Given the description of an element on the screen output the (x, y) to click on. 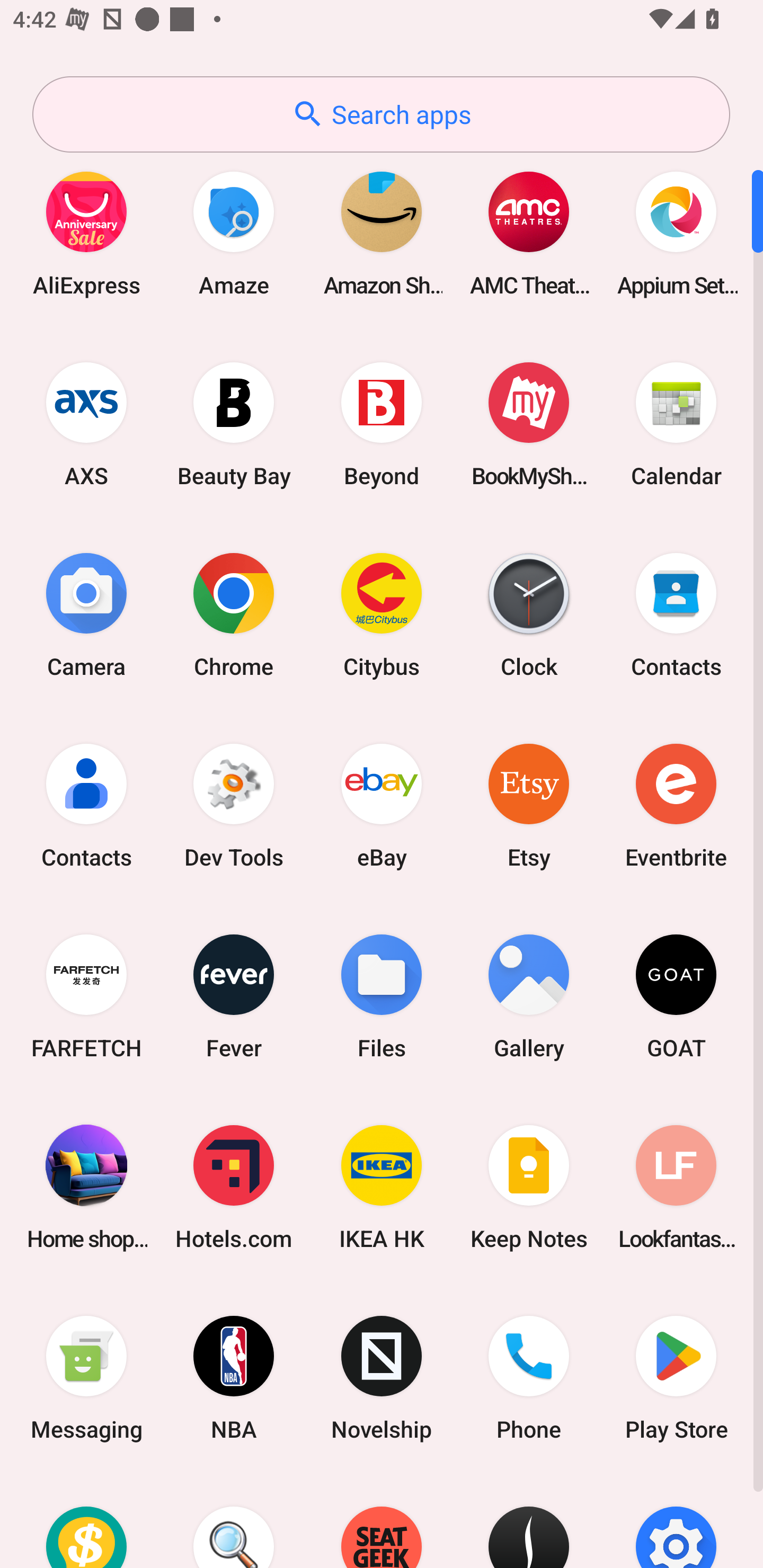
  Search apps (381, 114)
AliExpress (86, 233)
Amaze (233, 233)
Amazon Shopping (381, 233)
AMC Theatres (528, 233)
Appium Settings (676, 233)
AXS (86, 424)
Beauty Bay (233, 424)
Beyond (381, 424)
BookMyShow (528, 424)
Calendar (676, 424)
Camera (86, 614)
Chrome (233, 614)
Citybus (381, 614)
Clock (528, 614)
Contacts (676, 614)
Contacts (86, 805)
Dev Tools (233, 805)
eBay (381, 805)
Etsy (528, 805)
Eventbrite (676, 805)
FARFETCH (86, 996)
Fever (233, 996)
Files (381, 996)
Gallery (528, 996)
GOAT (676, 996)
Home shopping (86, 1186)
Hotels.com (233, 1186)
IKEA HK (381, 1186)
Keep Notes (528, 1186)
Lookfantastic (676, 1186)
Messaging (86, 1377)
NBA (233, 1377)
Novelship (381, 1377)
Phone (528, 1377)
Play Store (676, 1377)
Price (86, 1520)
Search (233, 1520)
SeatGeek (381, 1520)
Sephora (528, 1520)
Settings (676, 1520)
